Given the description of an element on the screen output the (x, y) to click on. 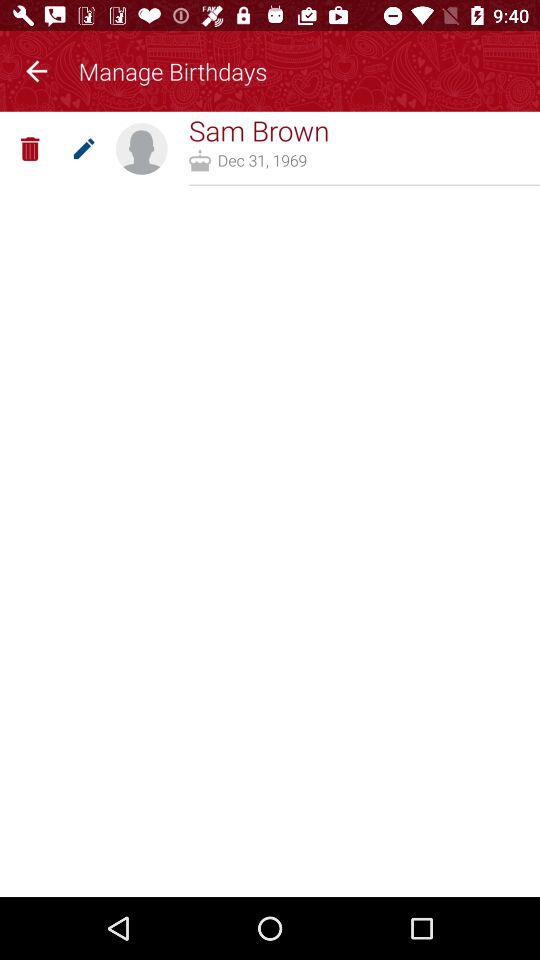
choose the app to the left of the manage birthdays app (36, 68)
